Given the description of an element on the screen output the (x, y) to click on. 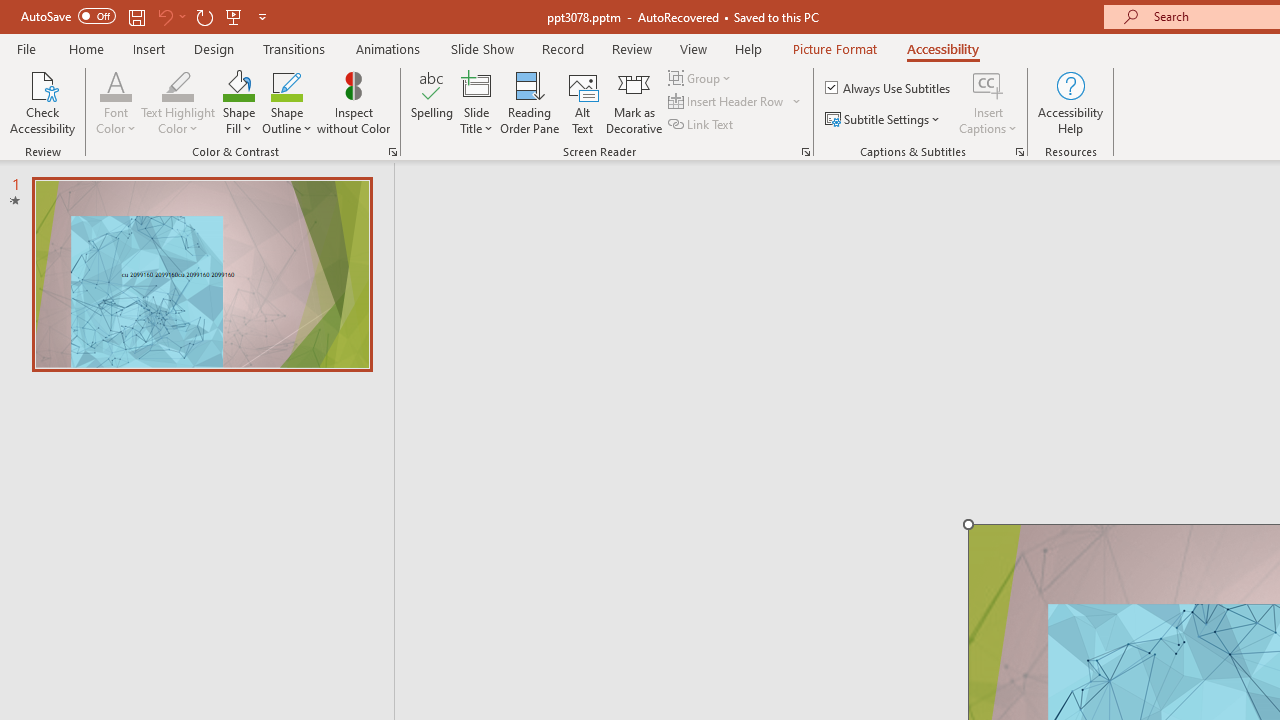
Accessibility Help (1070, 102)
Text Highlight Color (178, 102)
Link Text (702, 124)
Spelling... (432, 102)
Always Use Subtitles (889, 87)
Insert Header Row (727, 101)
